Given the description of an element on the screen output the (x, y) to click on. 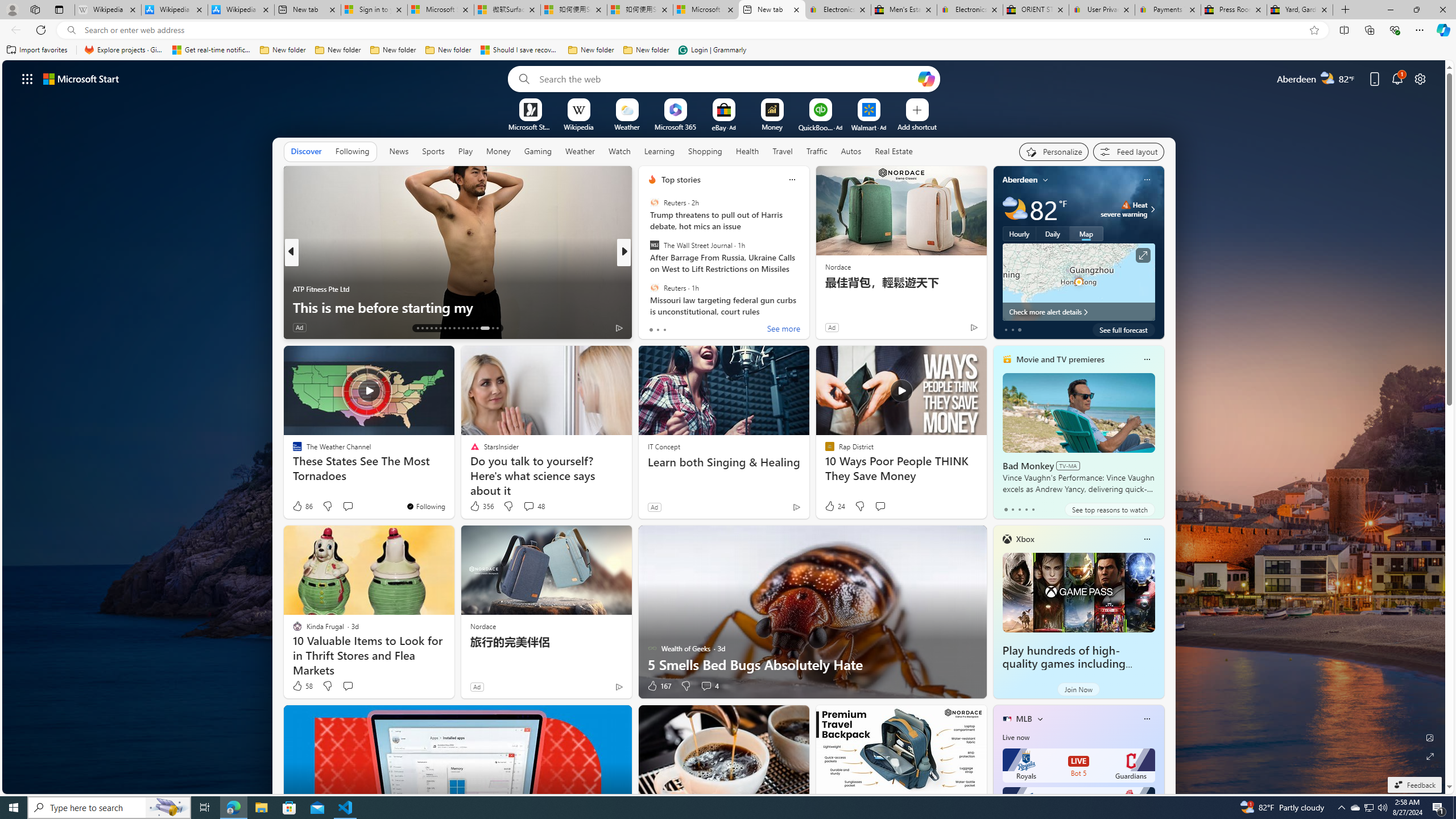
View comments 1 Comment (698, 327)
Click to see more information (1142, 255)
Real Estate (893, 151)
Wikipedia - Sleeping (107, 9)
86 Like (301, 505)
Reuters (654, 287)
Add a site (916, 126)
tab-1 (1012, 509)
Map (1085, 233)
Notifications (1397, 78)
IT Concept (663, 446)
